Given the description of an element on the screen output the (x, y) to click on. 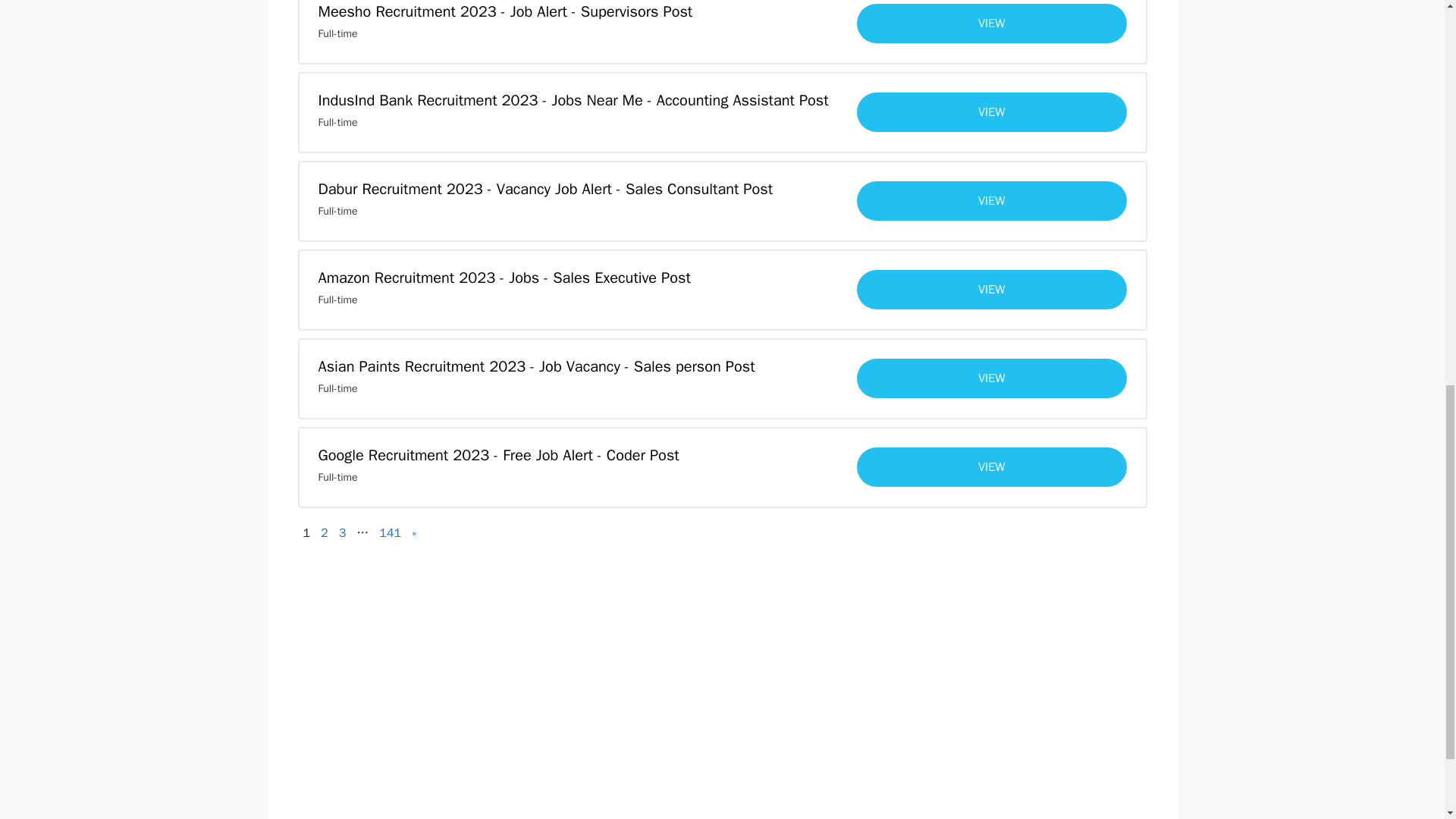
Meesho Recruitment 2023 - Job Alert - Supervisors Post (505, 11)
Amazon Recruitment 2023 - Jobs - Sales Executive Post (504, 277)
VIEW (991, 289)
VIEW (991, 378)
VIEW (991, 23)
VIEW (991, 111)
VIEW (991, 466)
Google Recruitment 2023 - Free Job Alert - Coder Post (498, 455)
VIEW (991, 200)
